Given the description of an element on the screen output the (x, y) to click on. 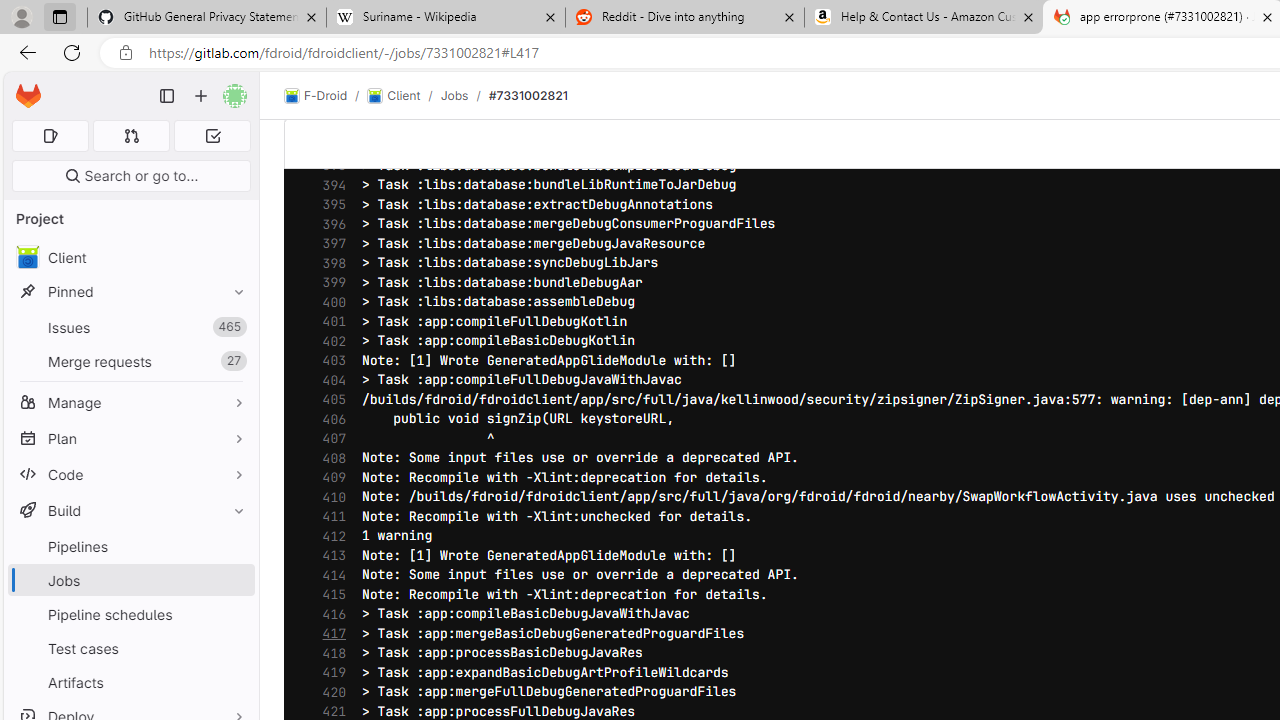
415 (329, 594)
Pin Jobs (234, 580)
